Given the description of an element on the screen output the (x, y) to click on. 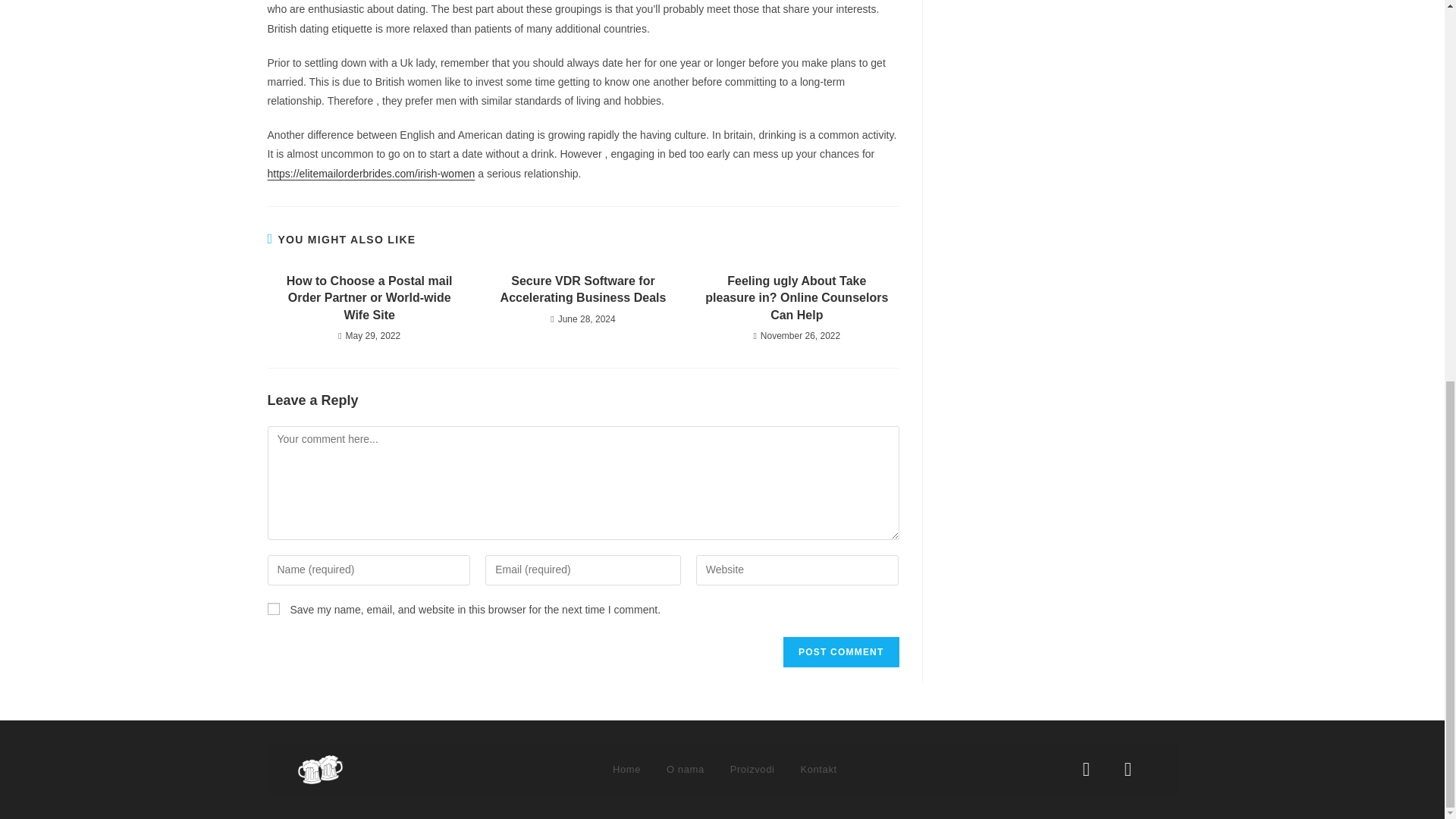
Kontakt (818, 768)
Secure VDR Software for Accelerating Business Deals (582, 289)
Secure VDR Software for Accelerating Business Deals (582, 289)
Proizvodi (752, 768)
Post Comment (840, 652)
Post Comment (840, 652)
O nama (685, 768)
yes (272, 608)
Home (626, 768)
